Given the description of an element on the screen output the (x, y) to click on. 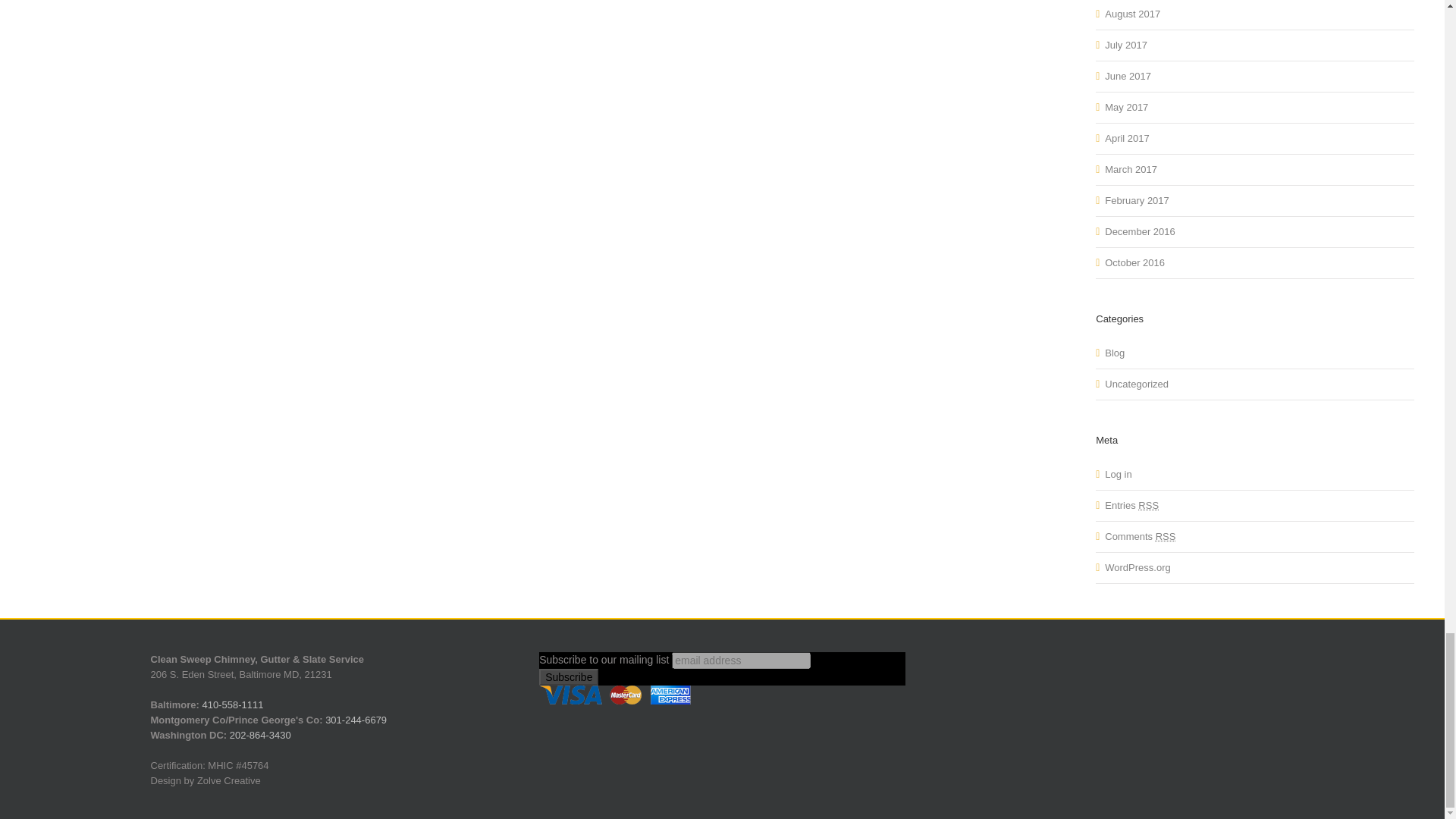
Really Simple Syndication (1166, 536)
Really Simple Syndication (1148, 505)
Subscribe (568, 677)
